Given the description of an element on the screen output the (x, y) to click on. 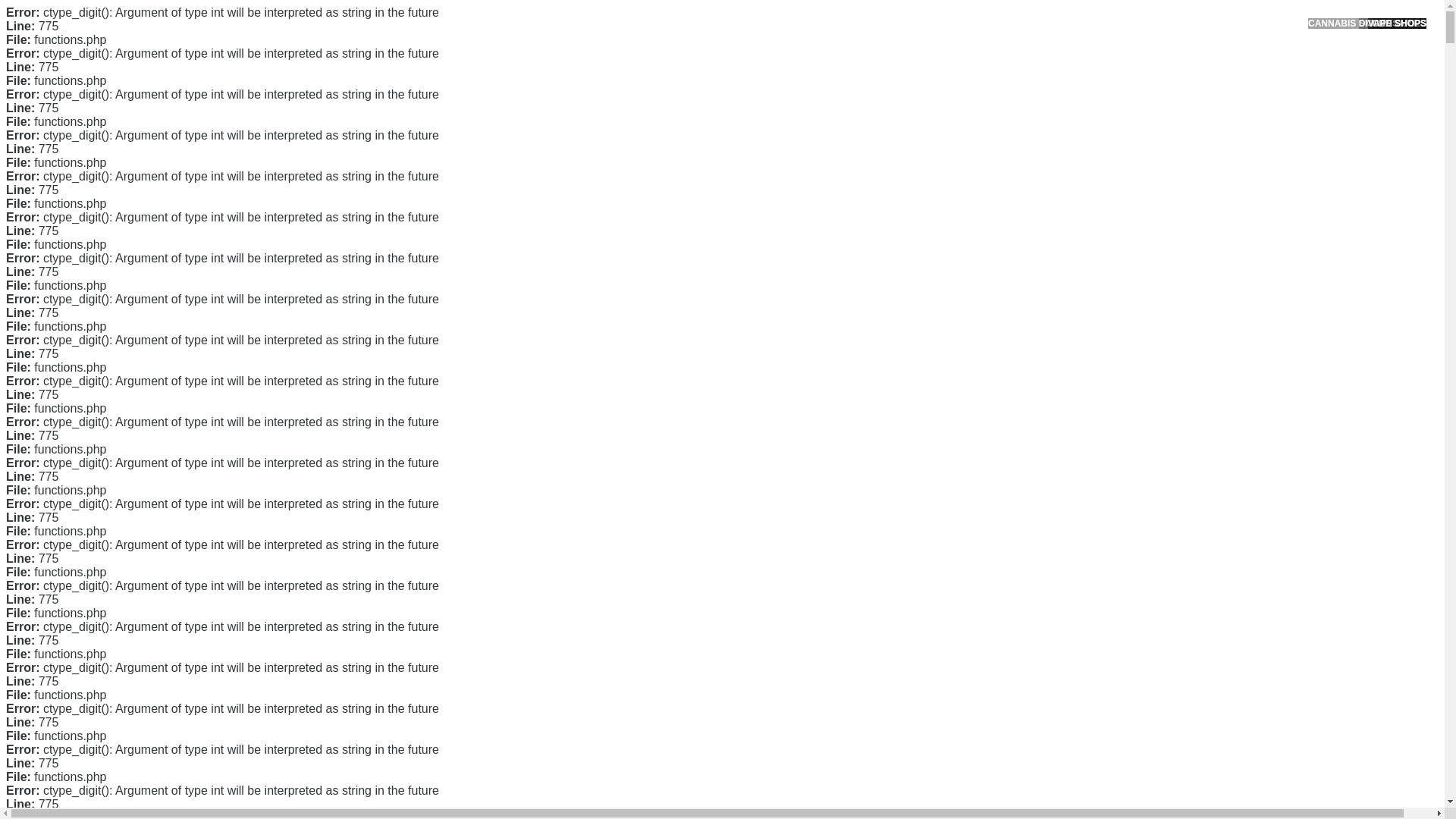
ADMINISTRATOR (417, 81)
go Here (513, 422)
August 2020 (996, 432)
Skip to content (34, 9)
RSS (977, 612)
Privacy Policy (999, 306)
Blog (976, 510)
Log in (980, 588)
Contact Us (991, 258)
DMCA Policy (996, 282)
Terms of Use (996, 330)
imp source (726, 517)
Search (1050, 85)
content (395, 517)
Disclaimer (990, 354)
